Given the description of an element on the screen output the (x, y) to click on. 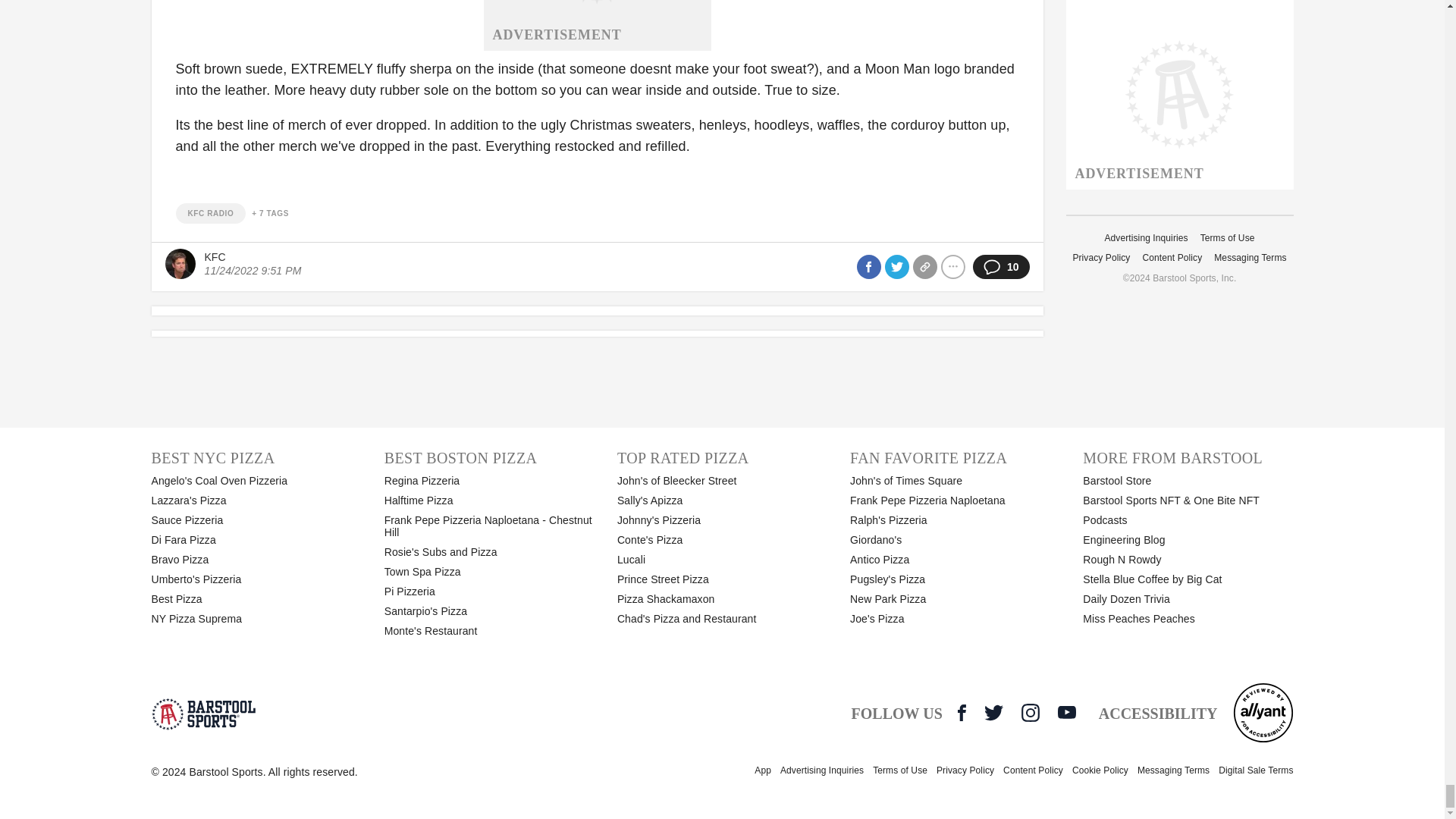
Reviewed by Allyant for accessibility (1263, 712)
Twitter Icon (993, 712)
Instagram Icon (1030, 712)
YouTube Icon (1066, 711)
